Given the description of an element on the screen output the (x, y) to click on. 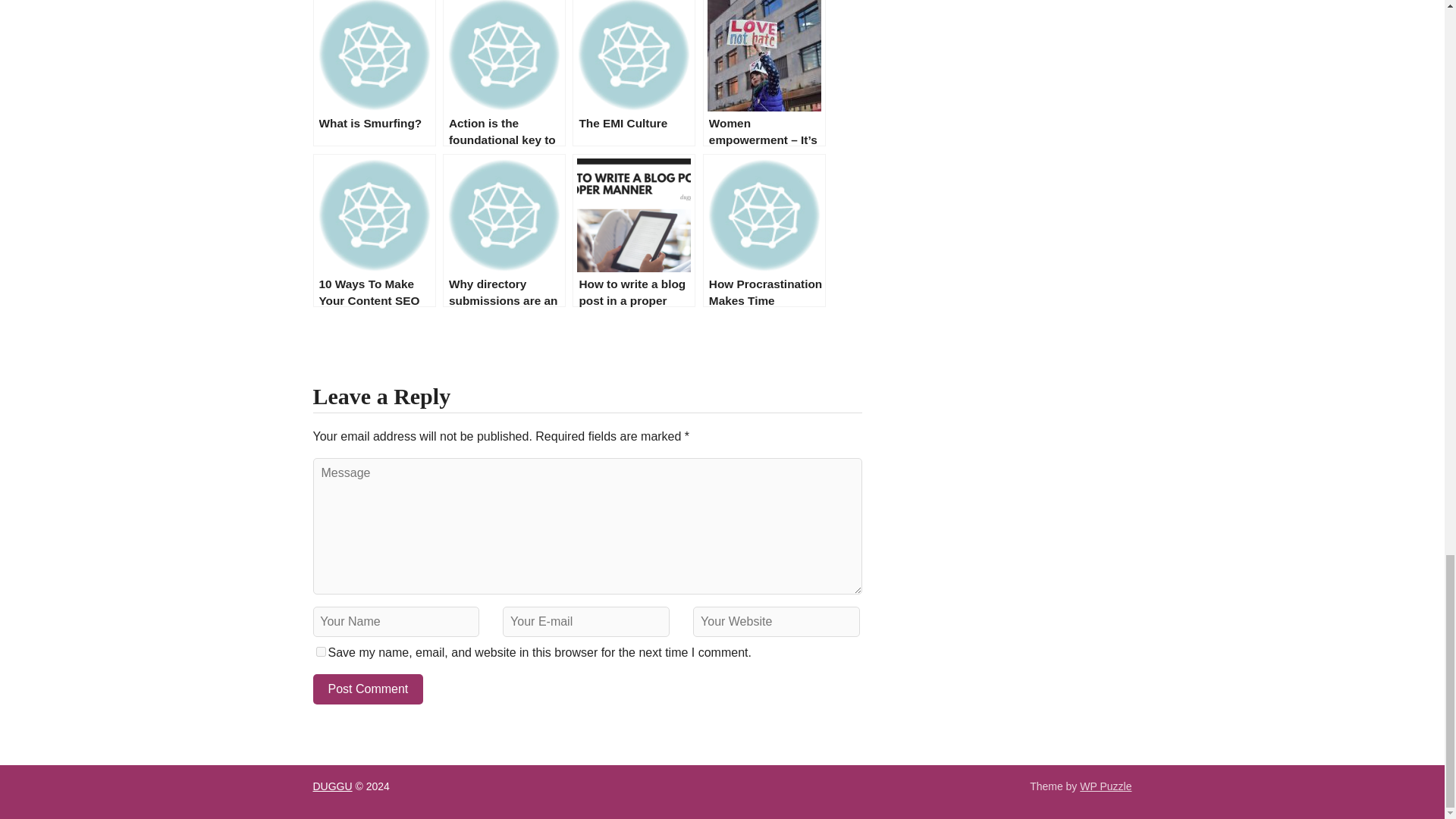
yes (319, 651)
Post Comment (368, 689)
Post Comment (368, 689)
